Given the description of an element on the screen output the (x, y) to click on. 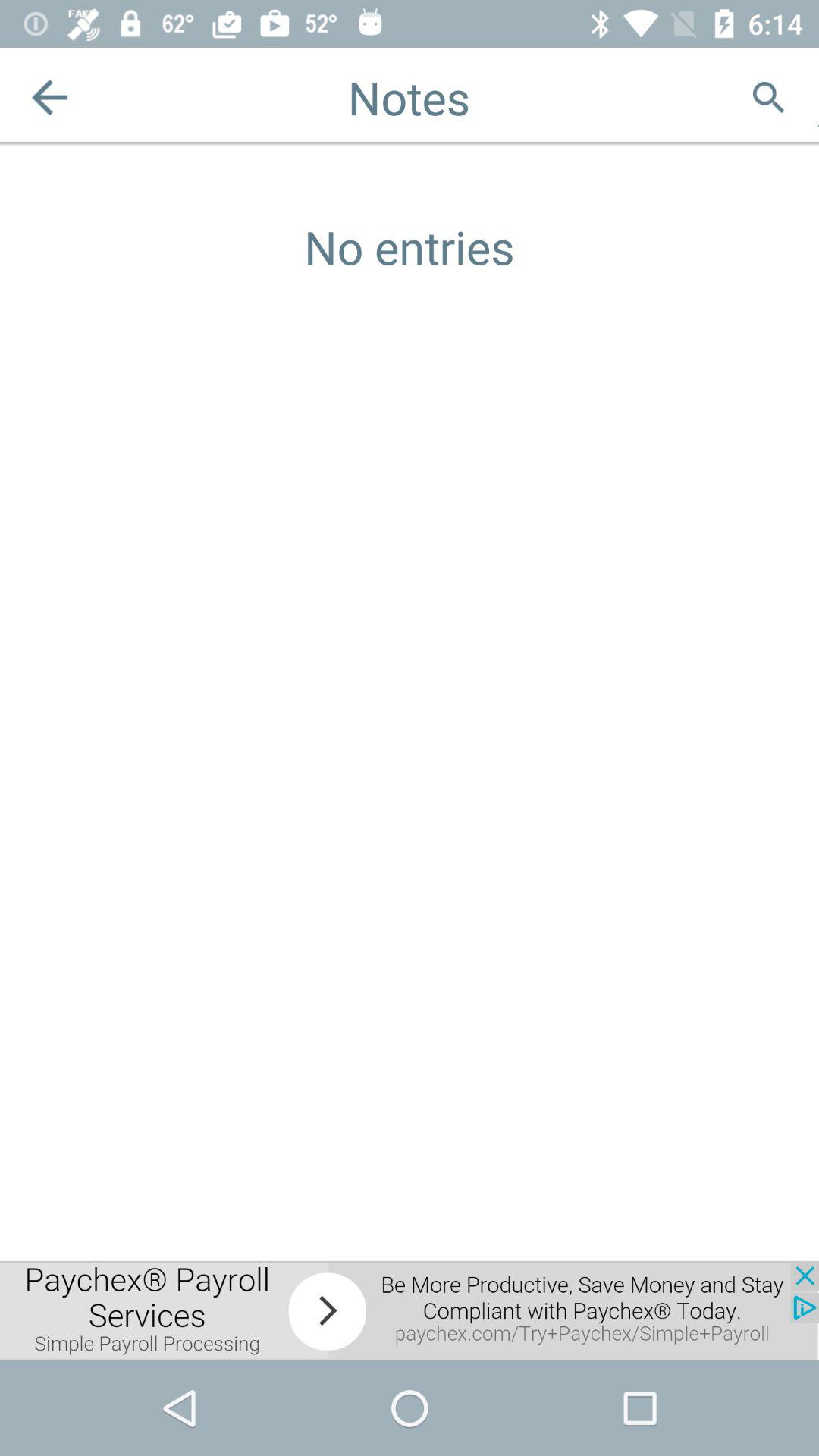
search option (768, 97)
